Given the description of an element on the screen output the (x, y) to click on. 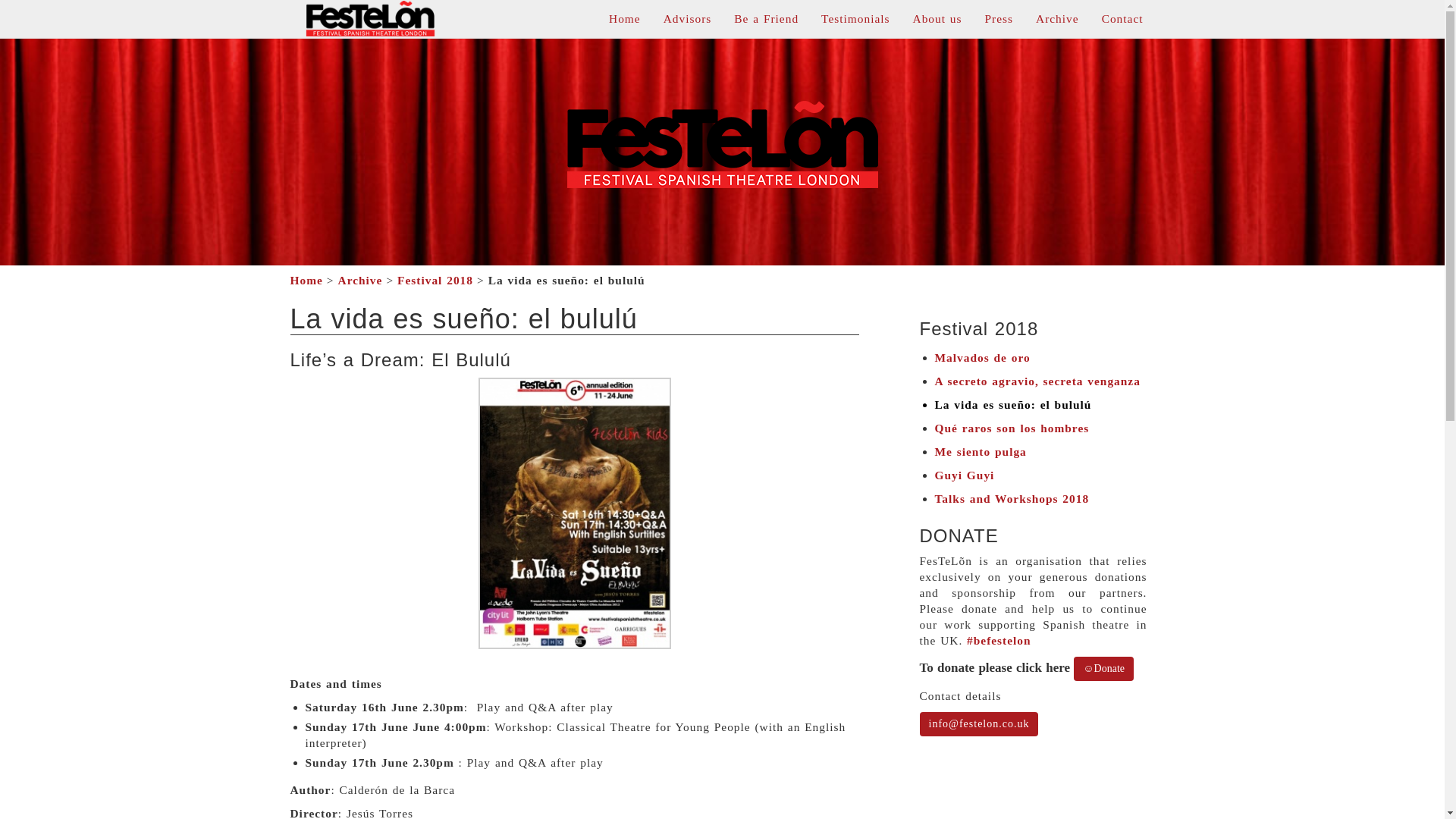
Advisors (687, 18)
Talks and Workshops 2018 (1011, 498)
About us (937, 18)
Archive (1057, 18)
Testimonials (855, 18)
Press (999, 18)
Home (624, 18)
Advisors (687, 18)
Press (999, 18)
Be a Friend (765, 18)
